Given the description of an element on the screen output the (x, y) to click on. 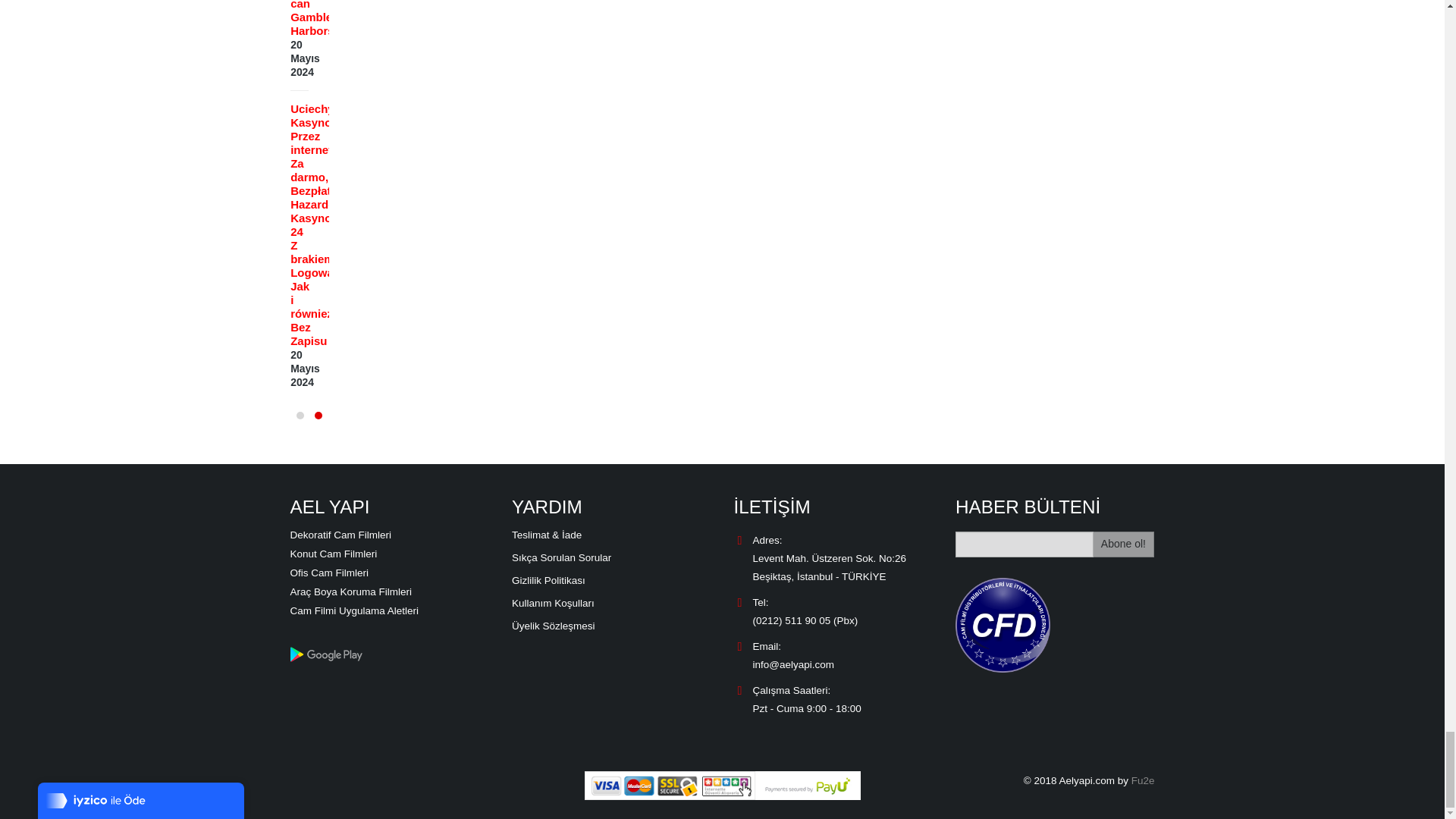
Abone ol! (1123, 544)
E-Posta (1024, 544)
